Given the description of an element on the screen output the (x, y) to click on. 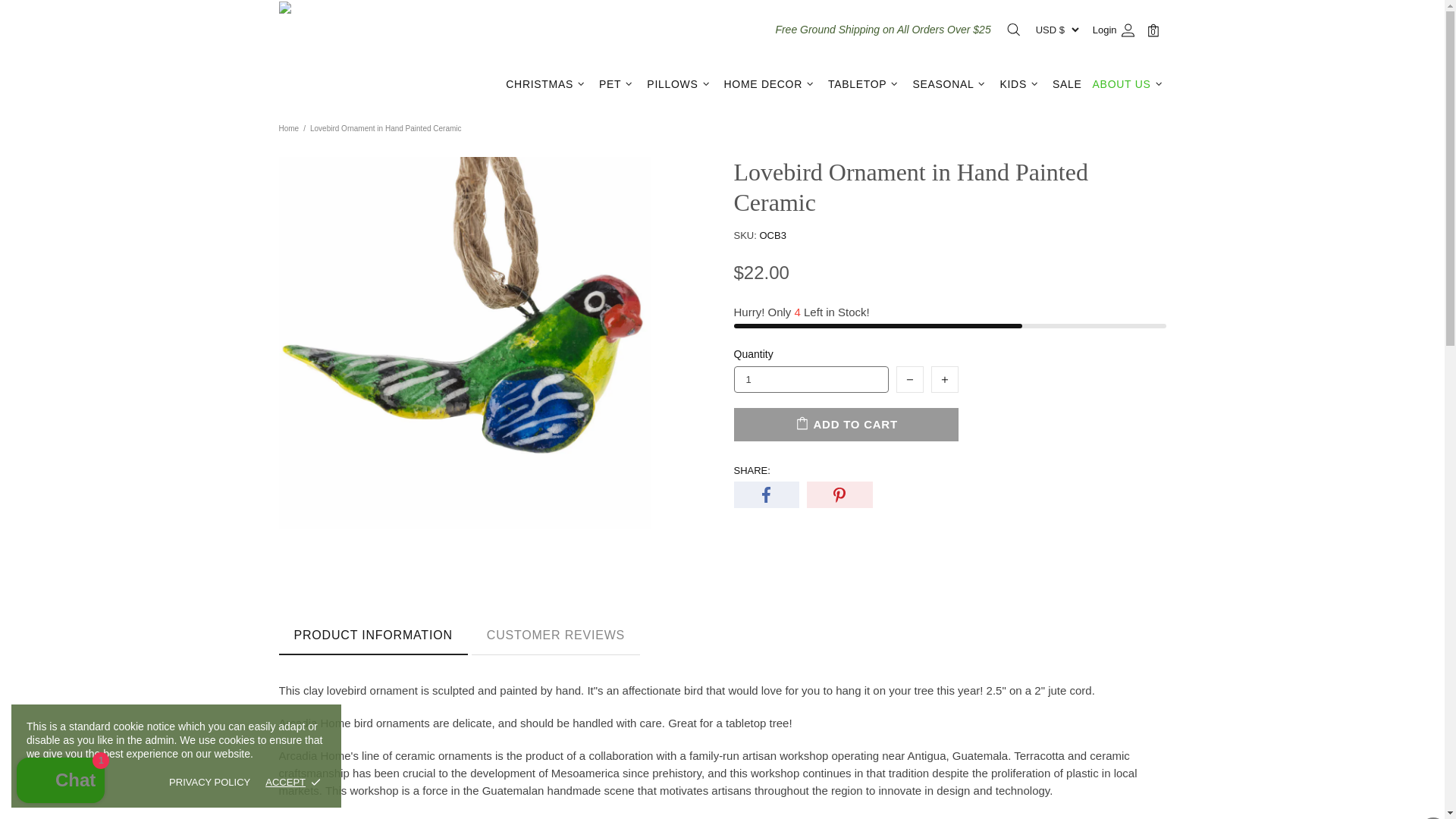
1 (810, 379)
Shopify online store chat (60, 781)
PET (618, 84)
CHRISTMAS (547, 84)
0 (1155, 29)
ARCADIA HOME (381, 54)
Login (1113, 29)
